Given the description of an element on the screen output the (x, y) to click on. 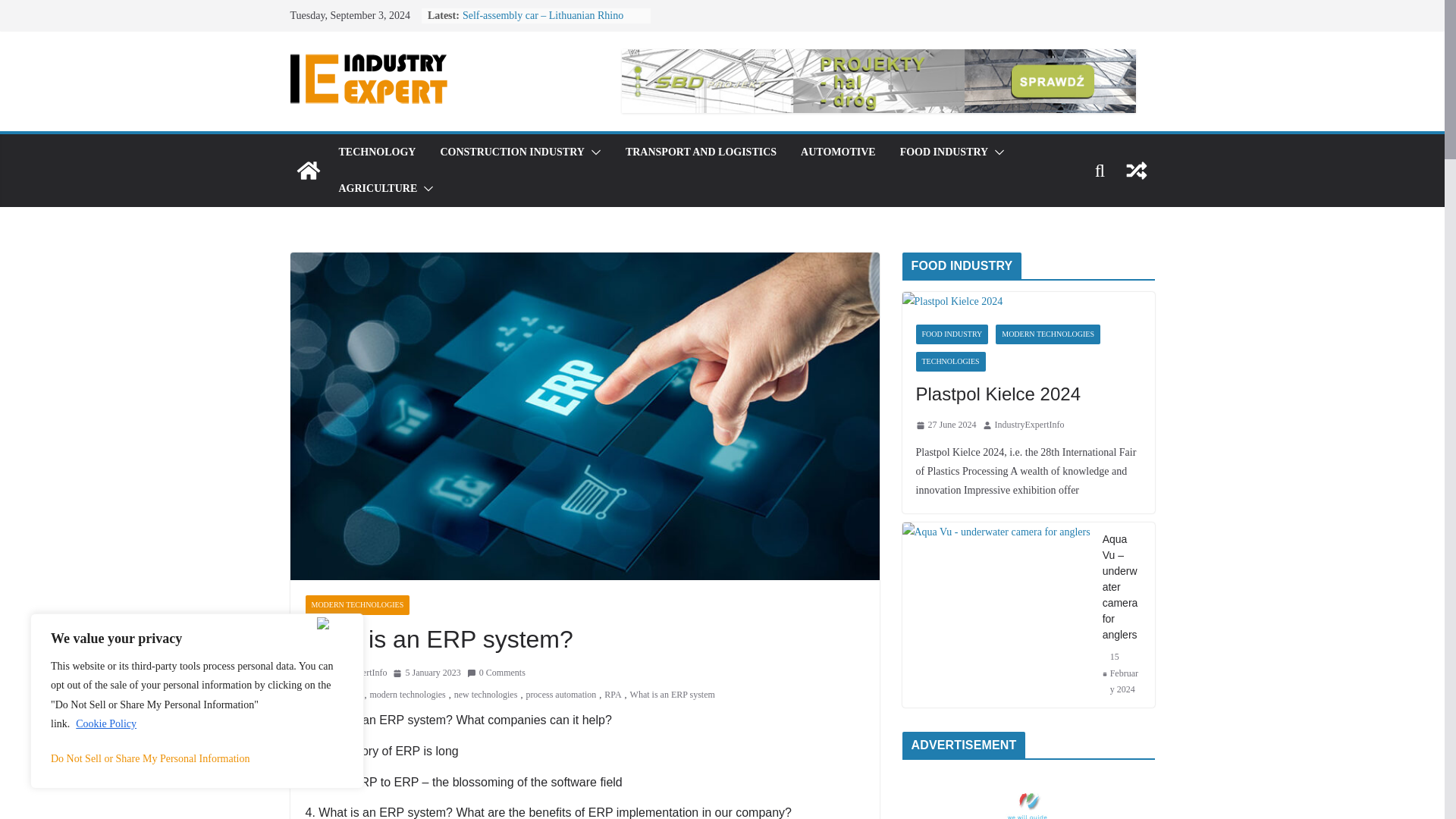
What is an ERP system (672, 695)
FOOD INDUSTRY (943, 151)
RPA (612, 695)
MODERN TECHNOLOGIES (356, 605)
5:04 pm (426, 673)
AUTOMOTIVE (838, 151)
Cookie Policy (105, 723)
process automation (560, 695)
ERP system (339, 695)
IndustryExpertInfo (352, 673)
